Given the description of an element on the screen output the (x, y) to click on. 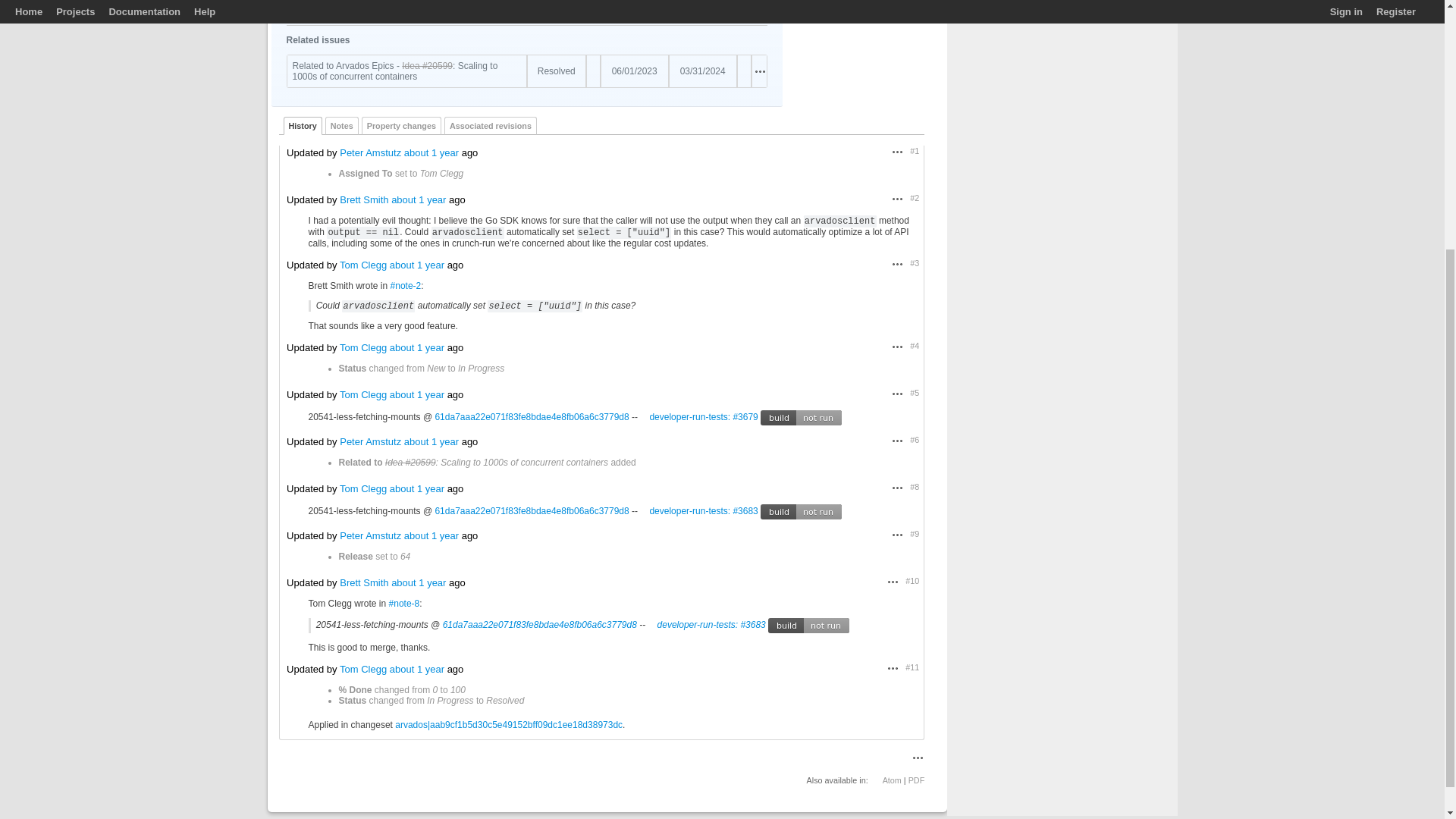
Actions (760, 70)
Actions (897, 346)
History (302, 126)
Actions (897, 263)
Actions (760, 9)
Actions (760, 70)
Actions (897, 151)
Actions (897, 198)
Tom Clegg (620, 9)
Actions (760, 9)
